Given the description of an element on the screen output the (x, y) to click on. 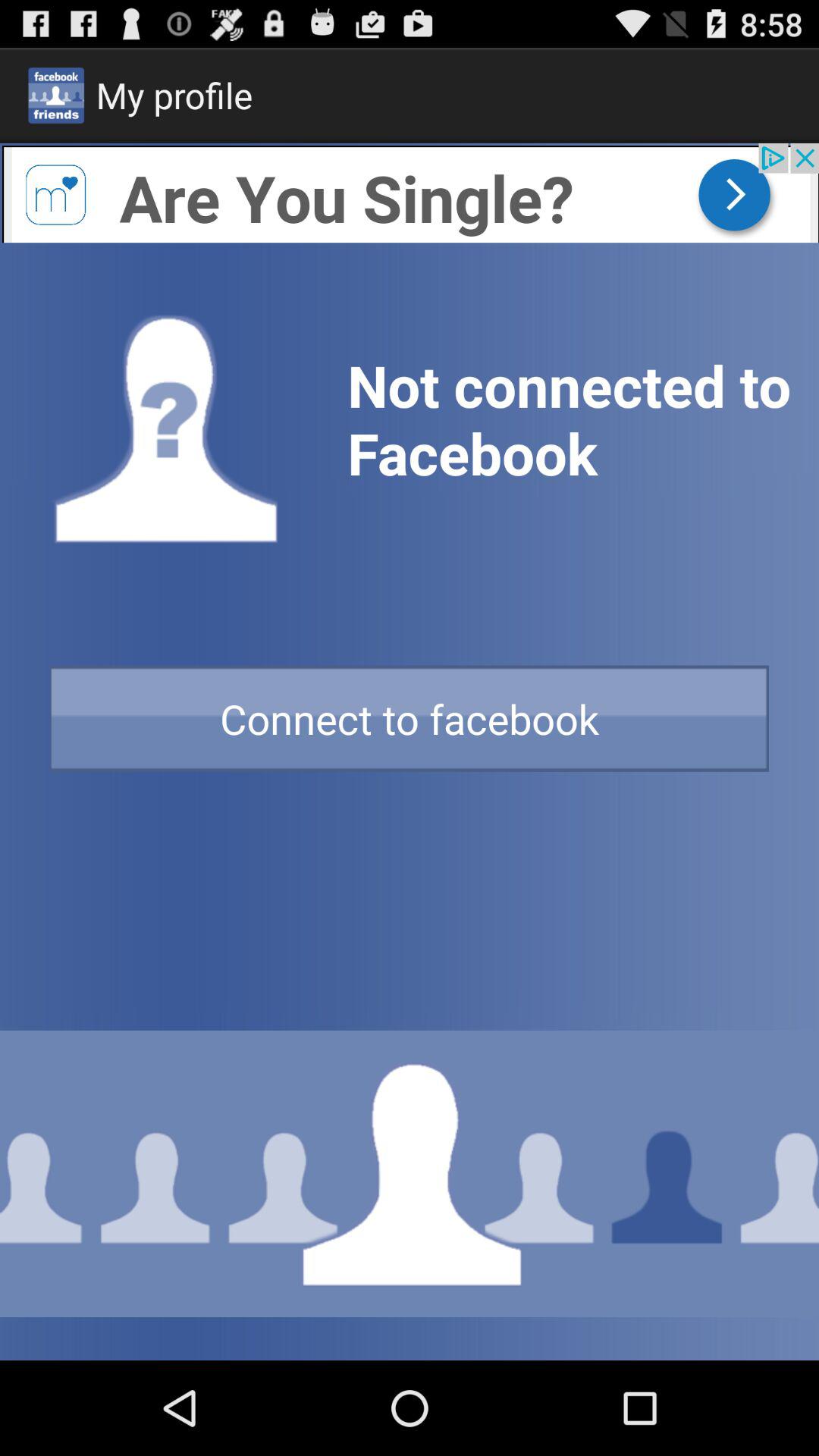
open advertisement for dating site (409, 192)
